Given the description of an element on the screen output the (x, y) to click on. 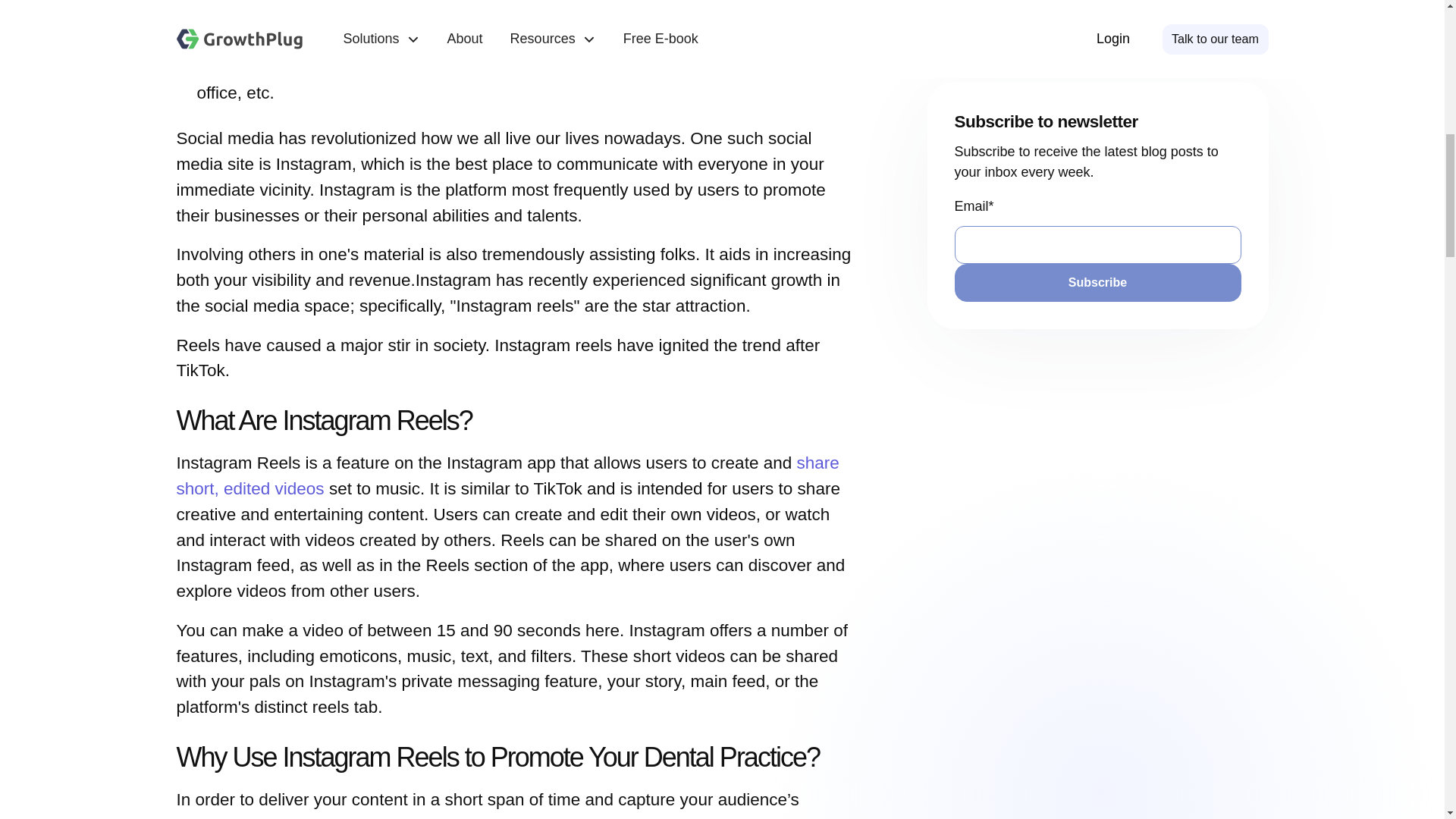
Subscribe (1096, 16)
share short, edited videos (507, 475)
Subscribe (1096, 16)
